Given the description of an element on the screen output the (x, y) to click on. 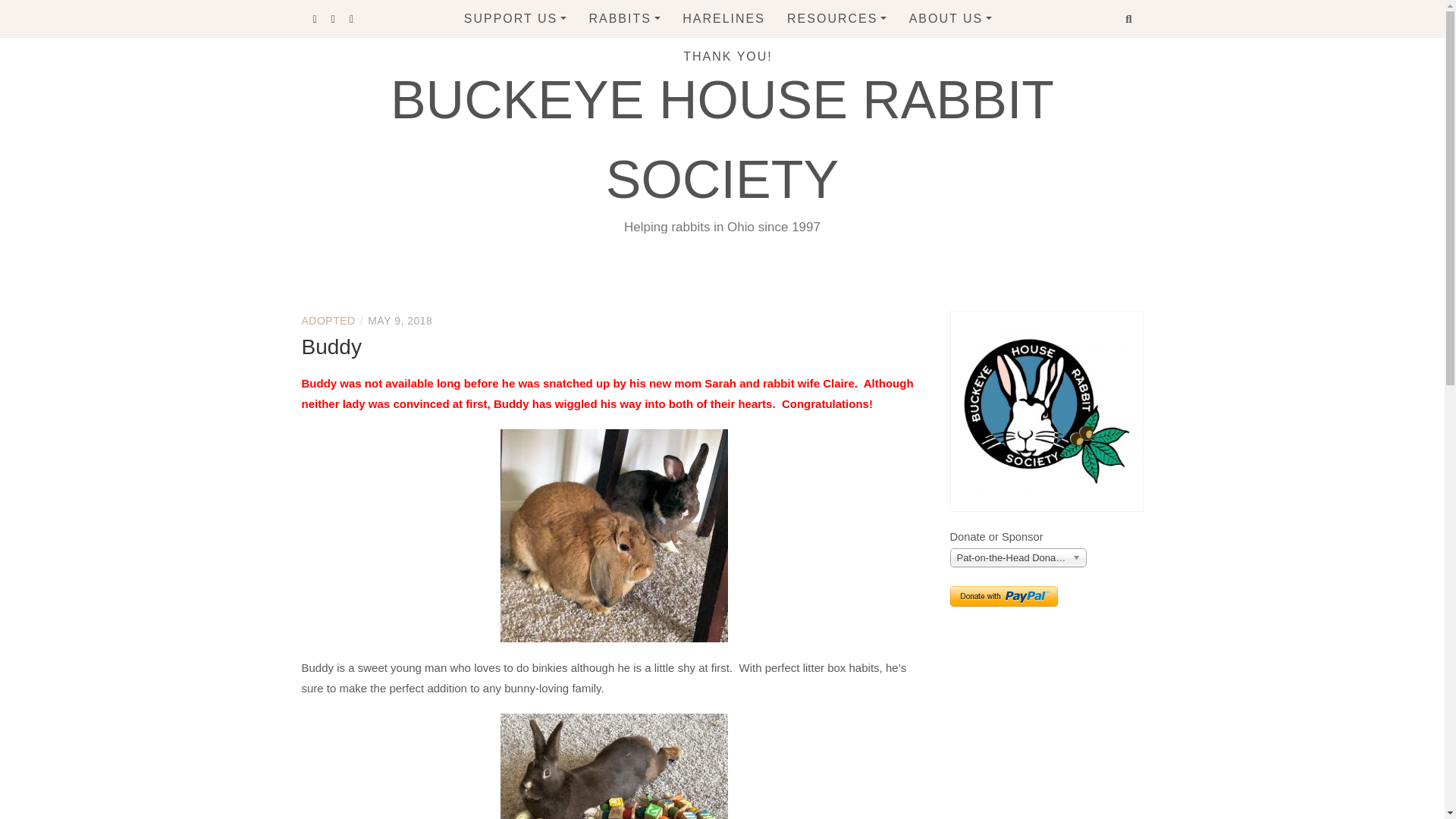
FORMS (870, 146)
SPONSOR (547, 83)
DONATE (547, 52)
THANK YOU! (727, 56)
SUPPORT US (515, 18)
ADOPTED (328, 320)
RESOURCES (836, 18)
ABOUT US (950, 18)
BUCKEYE HOUSE RABBIT SOCIETY (722, 139)
SUPPLIES (870, 115)
